Given the description of an element on the screen output the (x, y) to click on. 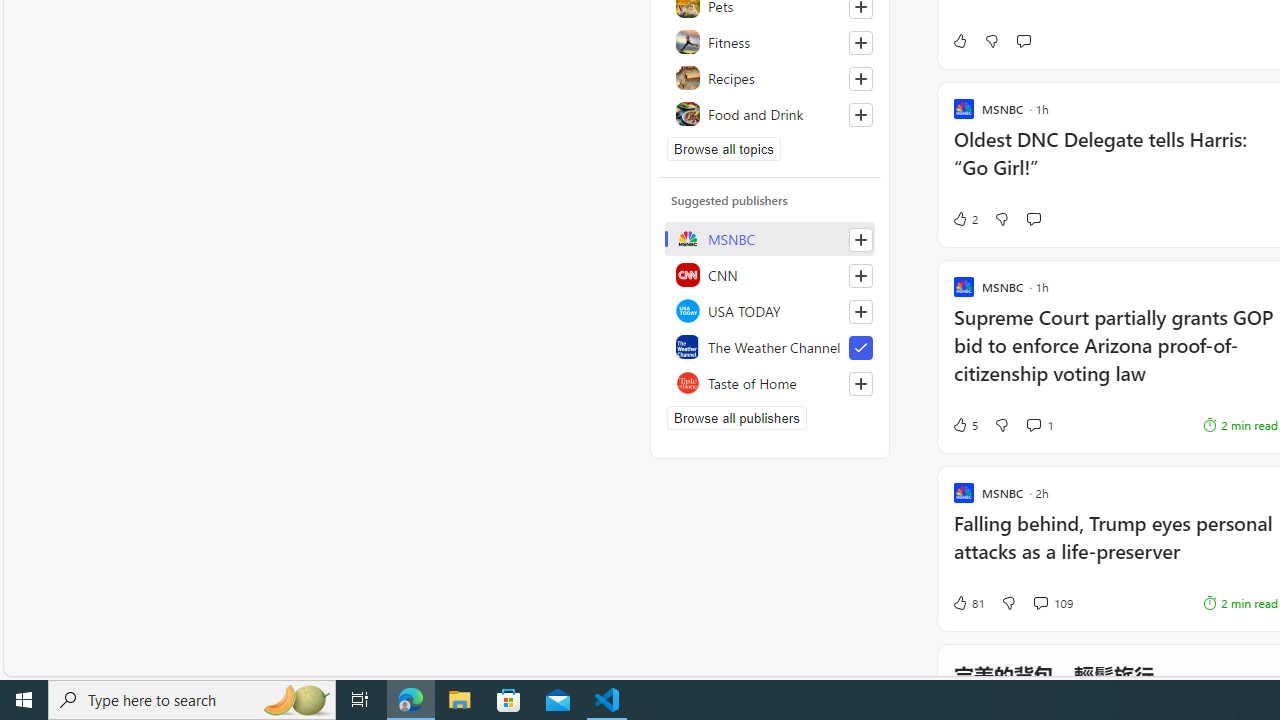
Unfollow this source (860, 348)
Food and Drink (770, 114)
Follow this source (860, 384)
View comments 109 Comment (1040, 602)
USA TODAY (770, 310)
Follow this topic (860, 114)
Follow this topic (860, 114)
The Weather Channel (770, 346)
Start the conversation (1033, 218)
View comments 1 Comment (1033, 424)
Follow this source (860, 384)
Browse all publishers (736, 417)
Taste of Home (770, 382)
